Given the description of an element on the screen output the (x, y) to click on. 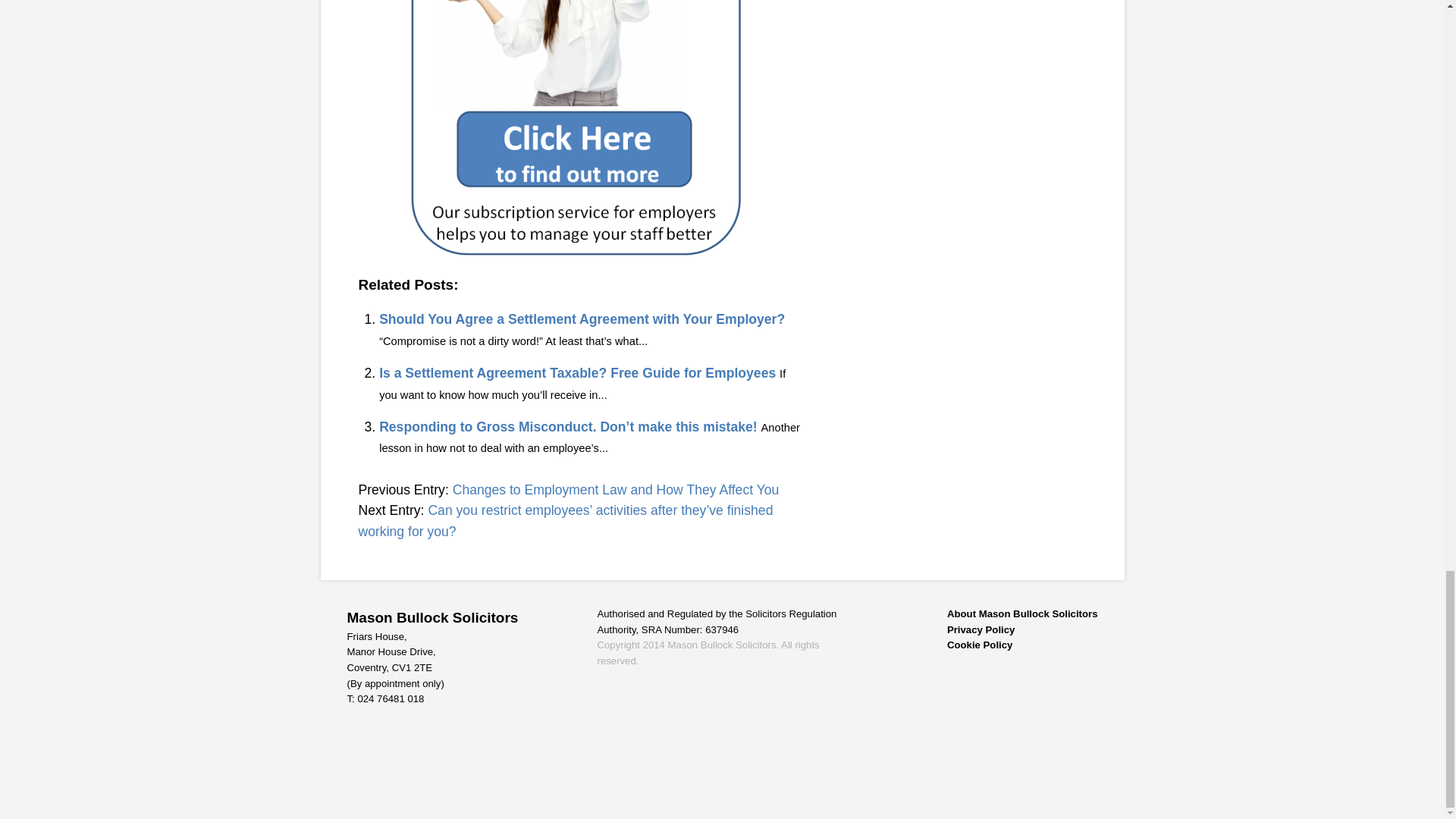
Should You Agree a Settlement Agreement with Your Employer? (581, 319)
Privacy Policy (1022, 630)
Should You Agree a Settlement Agreement with Your Employer? (581, 319)
Is a Settlement Agreement Taxable? Free Guide for Employees (577, 372)
About Mason Bullock Solicitors (1022, 614)
Cookie Policy (1022, 645)
Is a Settlement Agreement Taxable? Free Guide for Employees (577, 372)
Changes to Employment Law and How They Affect You (615, 489)
